Given the description of an element on the screen output the (x, y) to click on. 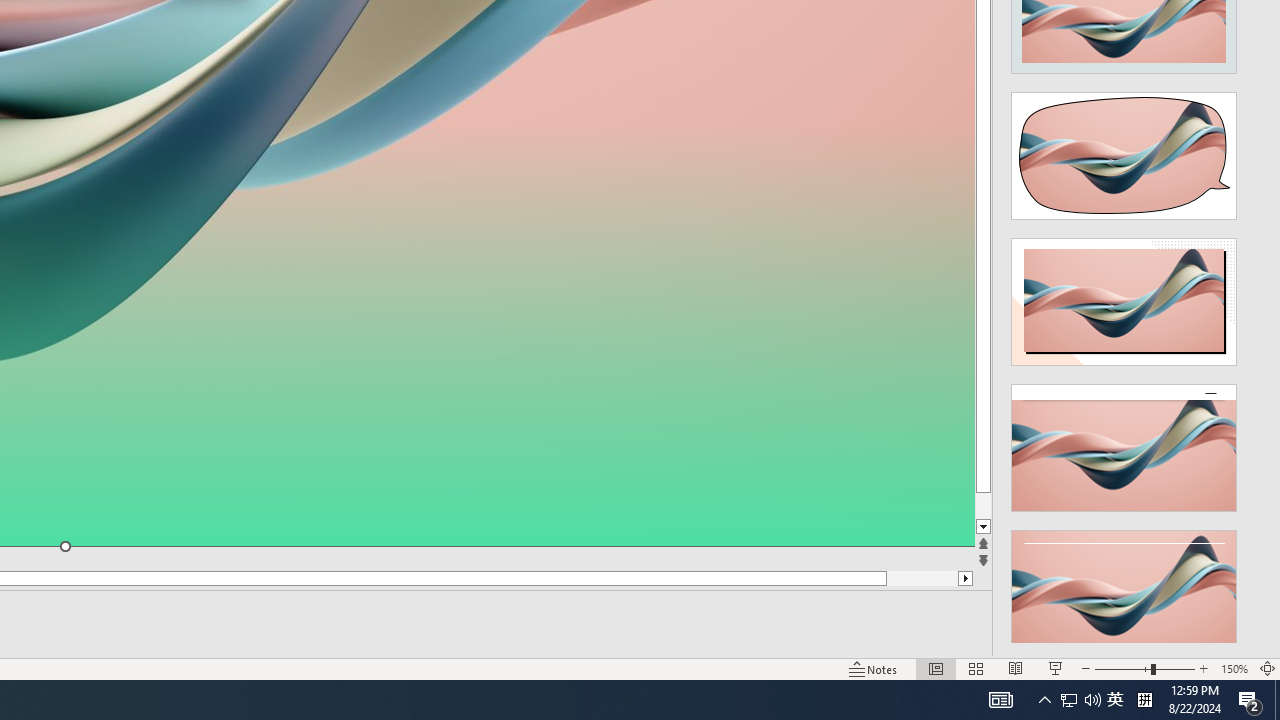
Zoom 150% (1234, 668)
